Given the description of an element on the screen output the (x, y) to click on. 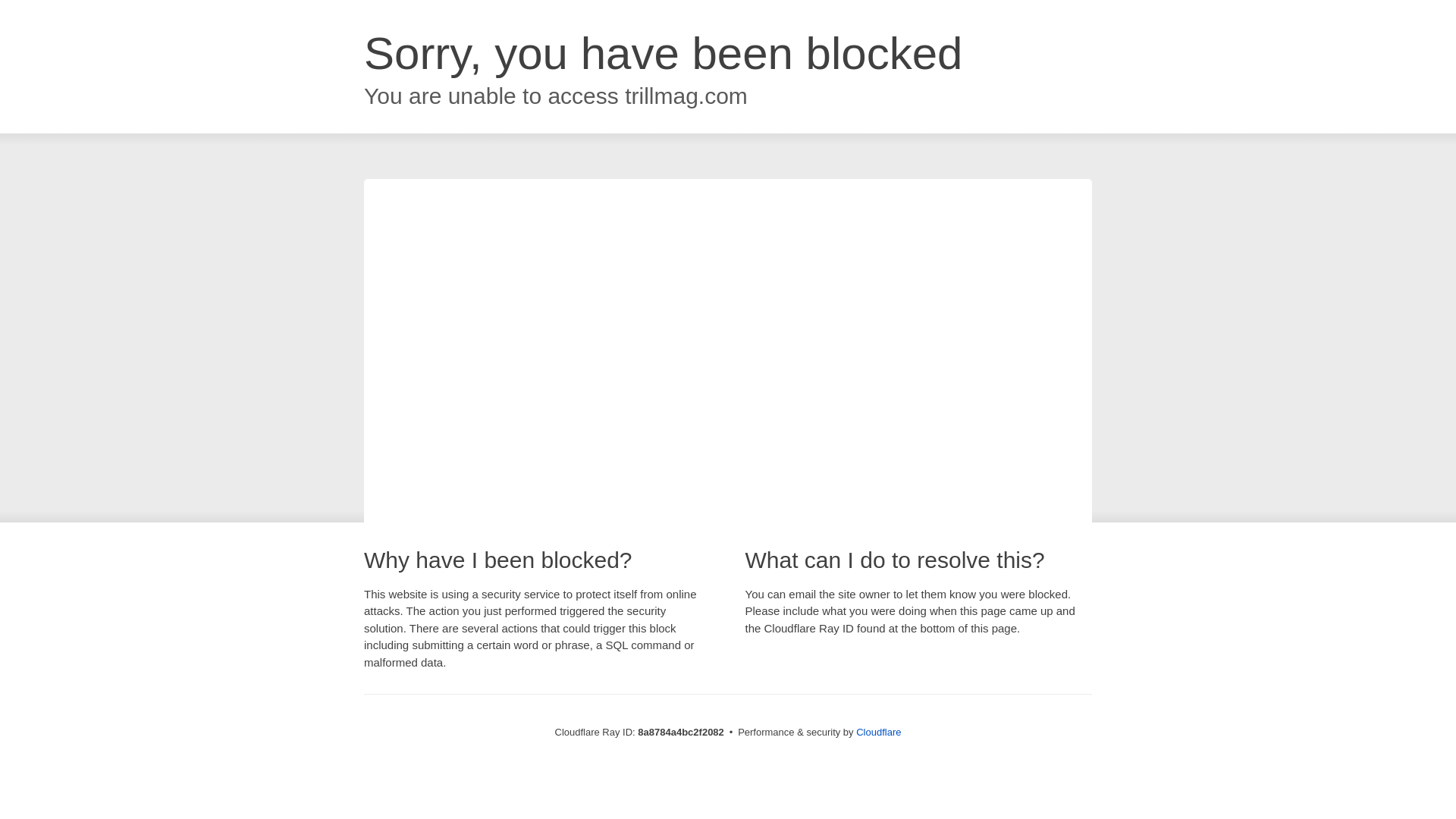
Cloudflare (878, 731)
